Given the description of an element on the screen output the (x, y) to click on. 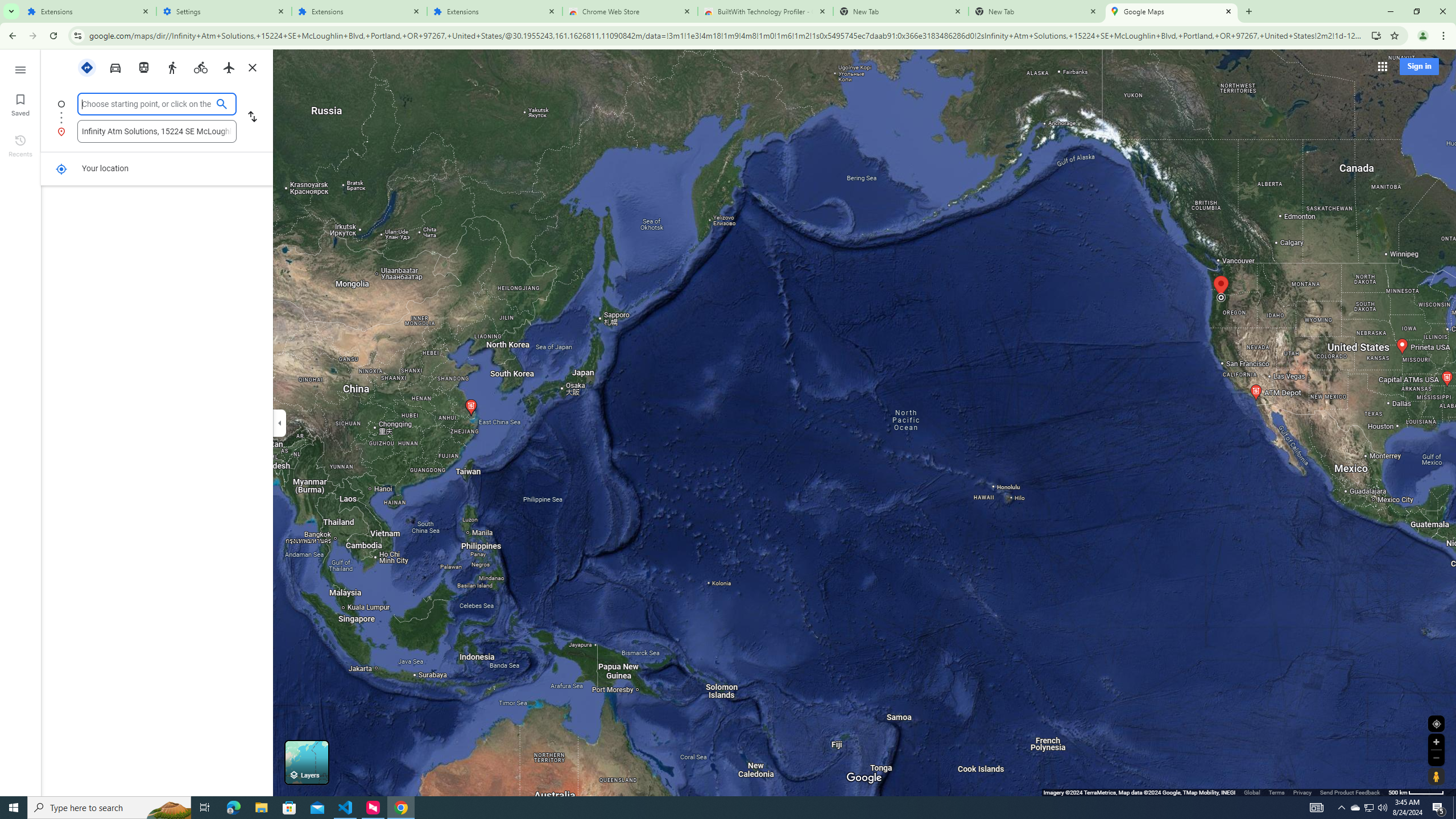
Search tabs (10, 11)
New Tab (1248, 11)
Close (1228, 11)
Zoom in (1436, 741)
Choose starting point, or click on the map... (146, 103)
Walking (172, 66)
Saved (20, 104)
Transit (143, 67)
Extensions (359, 11)
Address and search bar (726, 35)
Install Google Maps (1376, 35)
Show Your Location (1436, 723)
System (6, 6)
Best travel modes (86, 67)
